Given the description of an element on the screen output the (x, y) to click on. 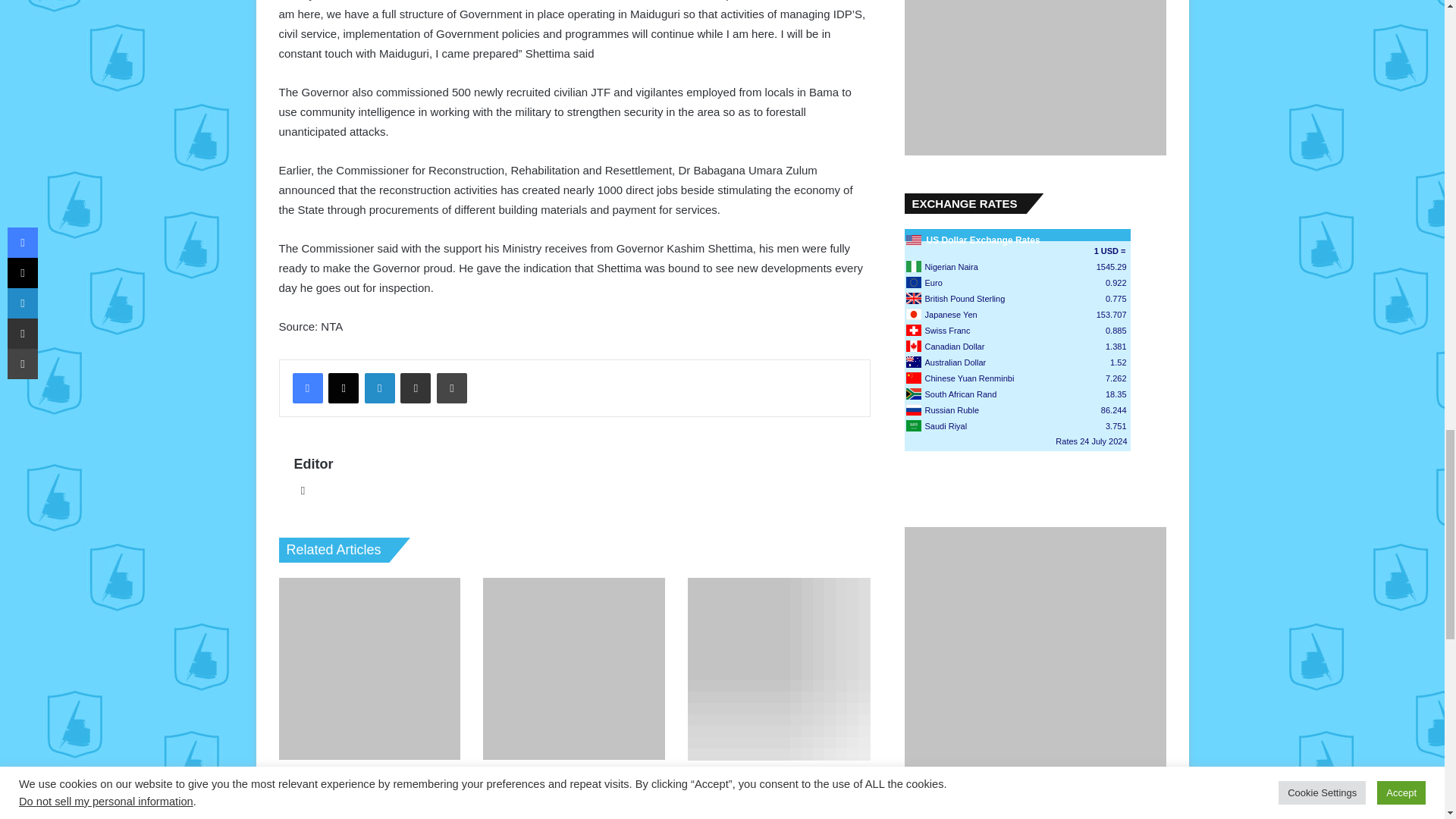
Facebook (307, 388)
X (343, 388)
